Given the description of an element on the screen output the (x, y) to click on. 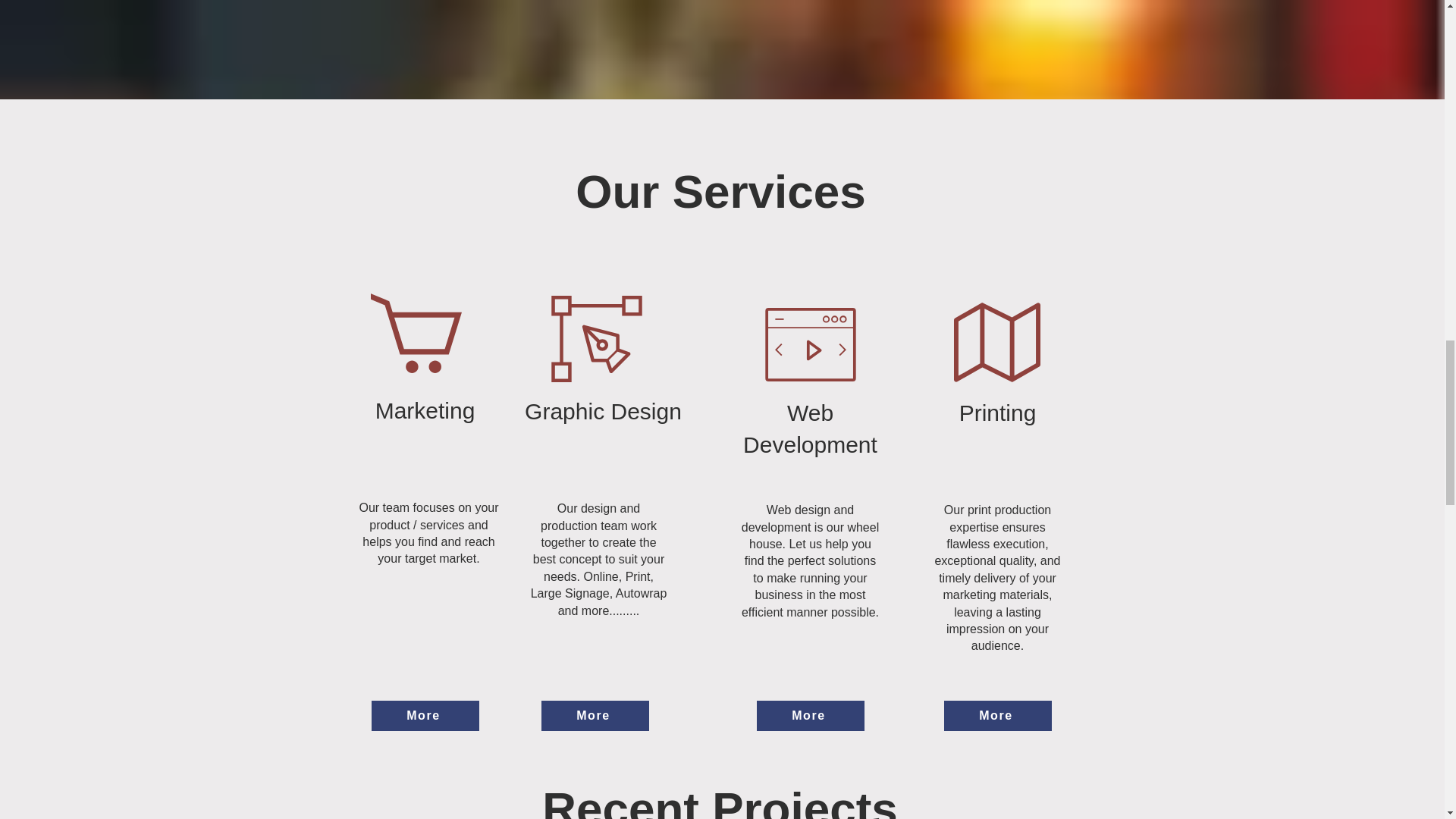
More (810, 716)
More (595, 716)
More (425, 716)
More (997, 716)
